Given the description of an element on the screen output the (x, y) to click on. 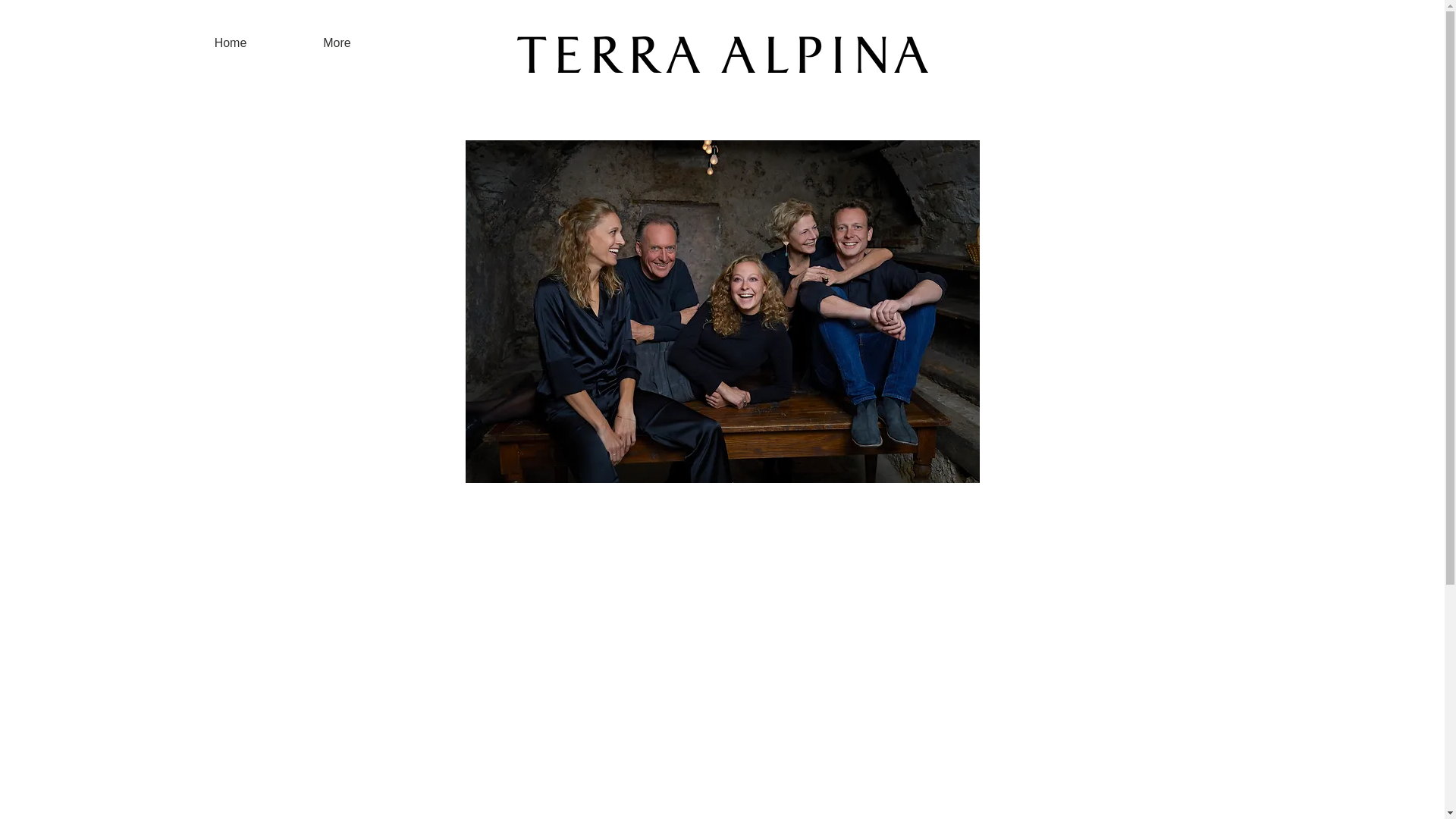
Home (229, 42)
